Given the description of an element on the screen output the (x, y) to click on. 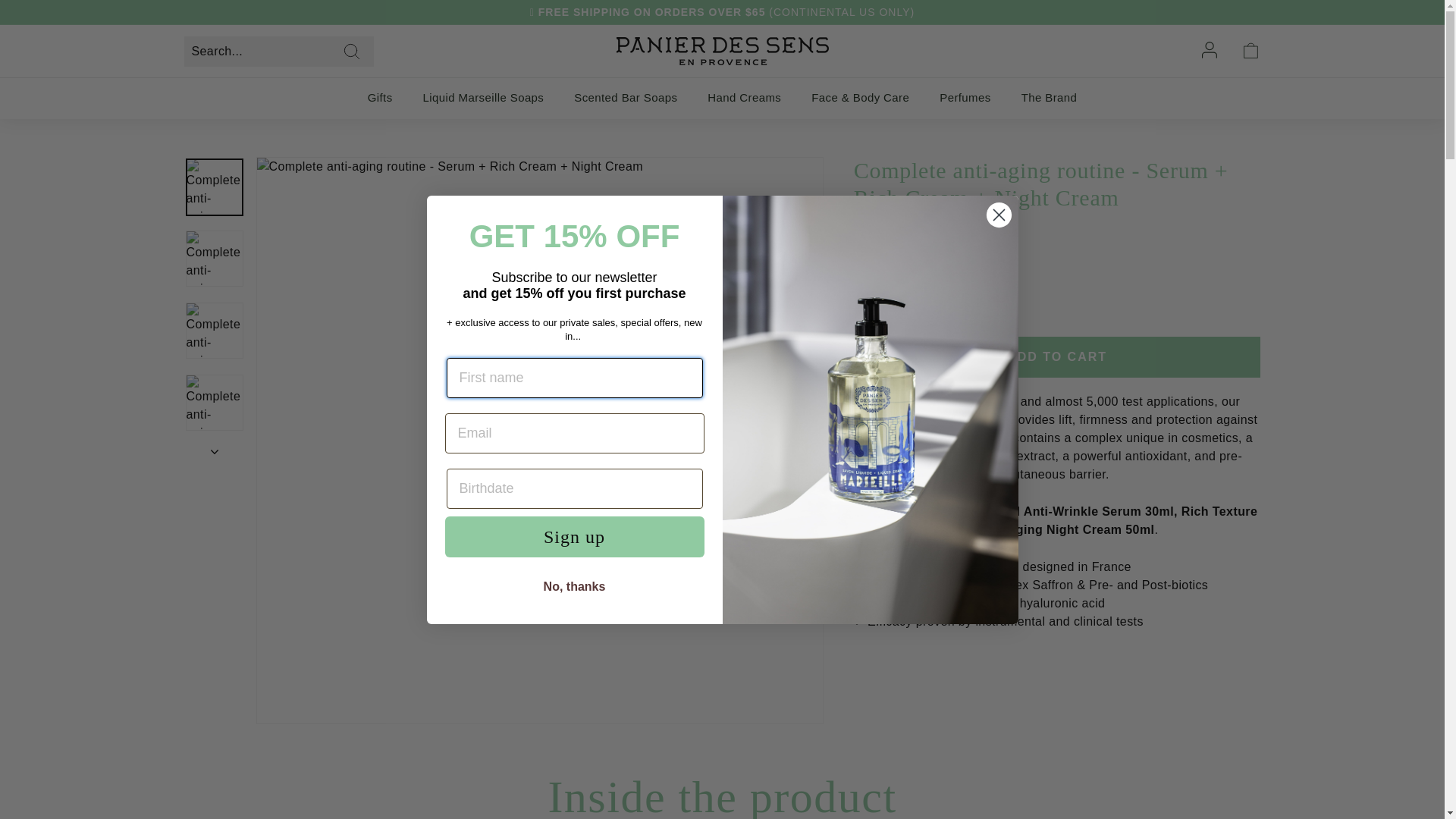
Liquid Marseille Soaps (483, 97)
Gifts (379, 97)
1 (880, 307)
Account (1211, 50)
